Given the description of an element on the screen output the (x, y) to click on. 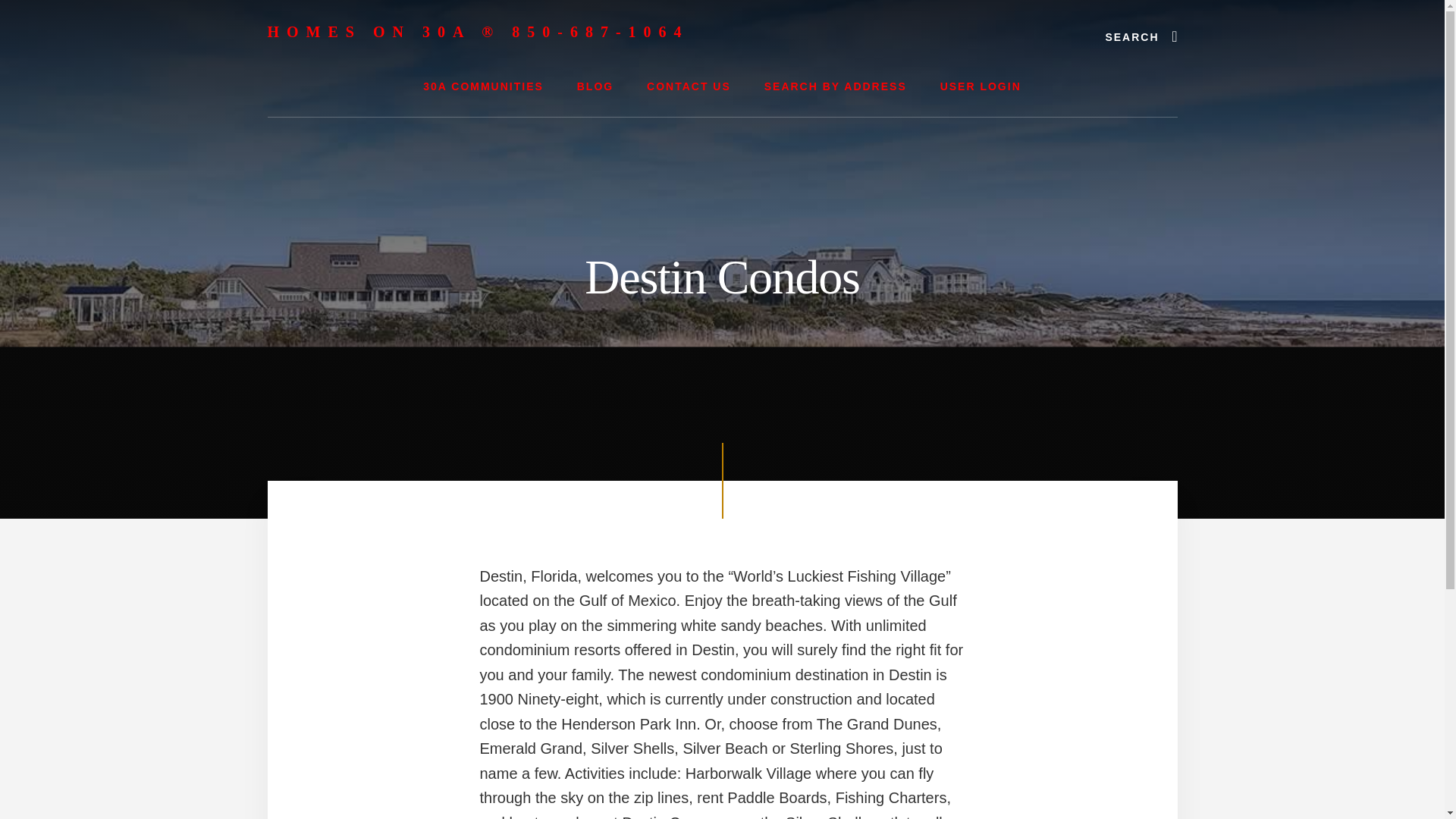
30A COMMUNITIES (483, 86)
BLOG (595, 86)
CONTACT US (688, 86)
SEARCH BY ADDRESS (835, 86)
USER LOGIN (980, 86)
